Given the description of an element on the screen output the (x, y) to click on. 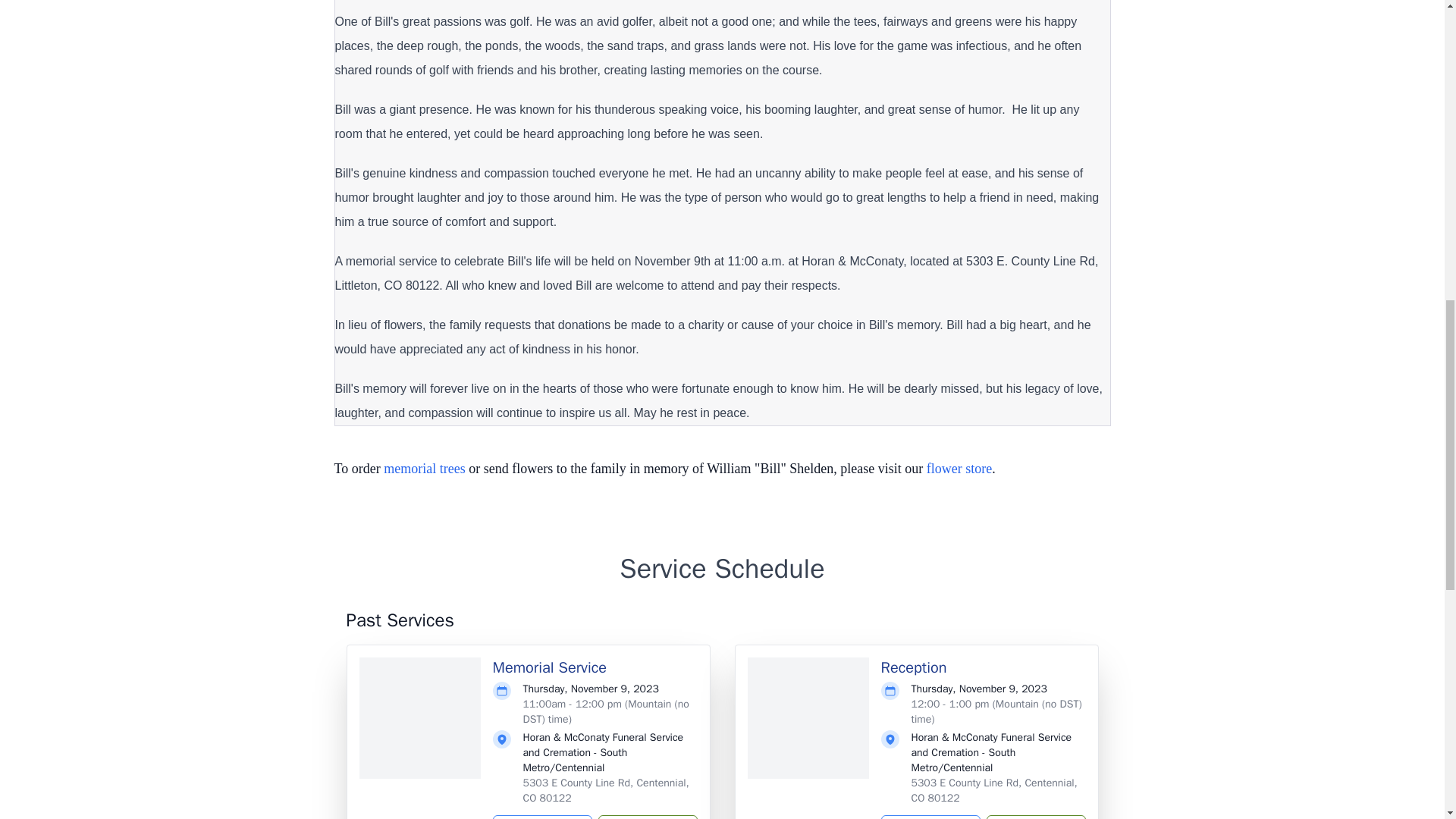
5303 E County Line Rd, Centennial, CO 80122 (605, 790)
Text Directions (929, 816)
flower store (958, 468)
Text Directions (542, 816)
Plant Trees (1034, 816)
Plant Trees (646, 816)
memorial trees (424, 468)
5303 E County Line Rd, Centennial, CO 80122 (994, 790)
